Given the description of an element on the screen output the (x, y) to click on. 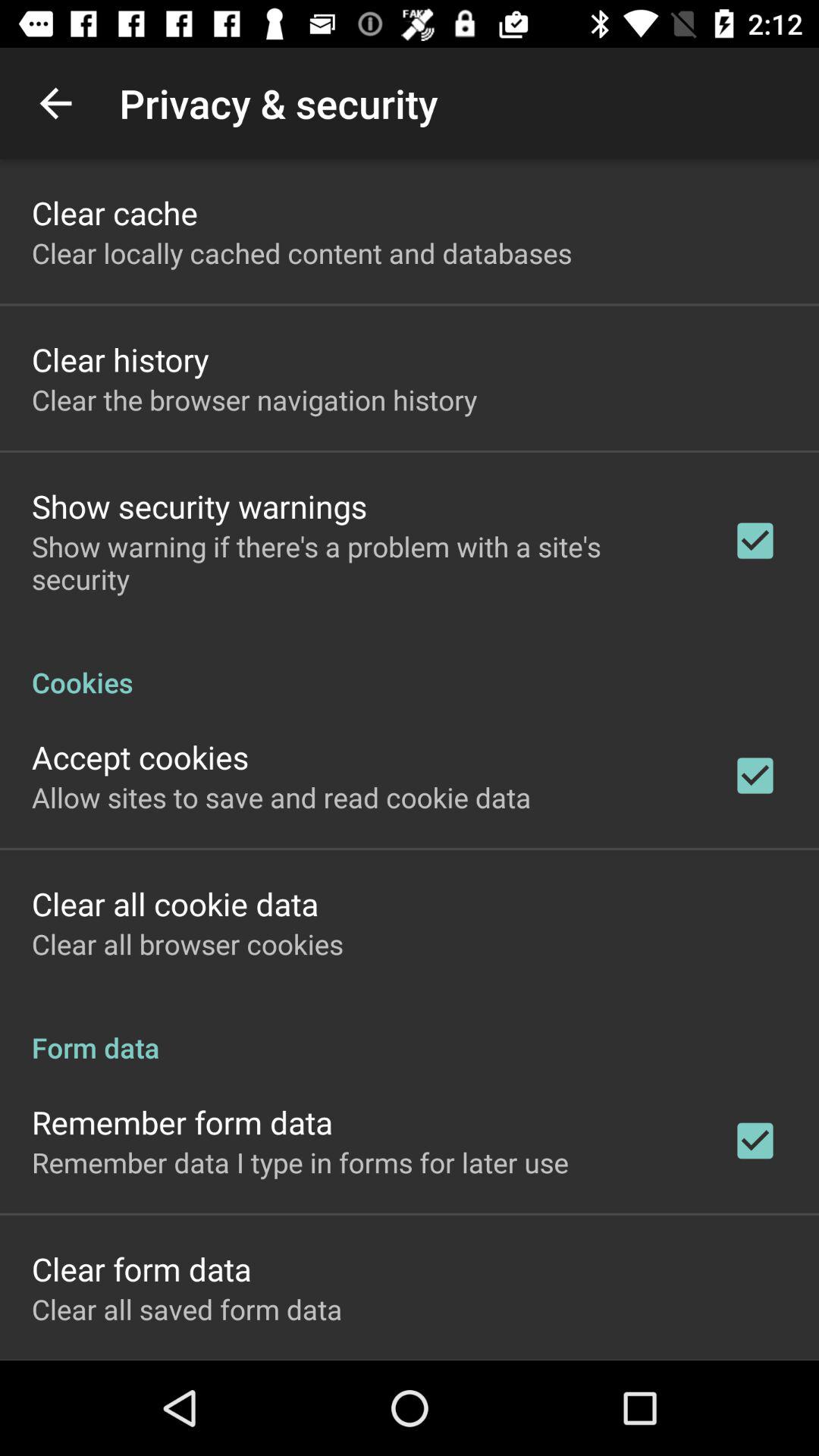
swipe until the clear cache app (114, 212)
